Given the description of an element on the screen output the (x, y) to click on. 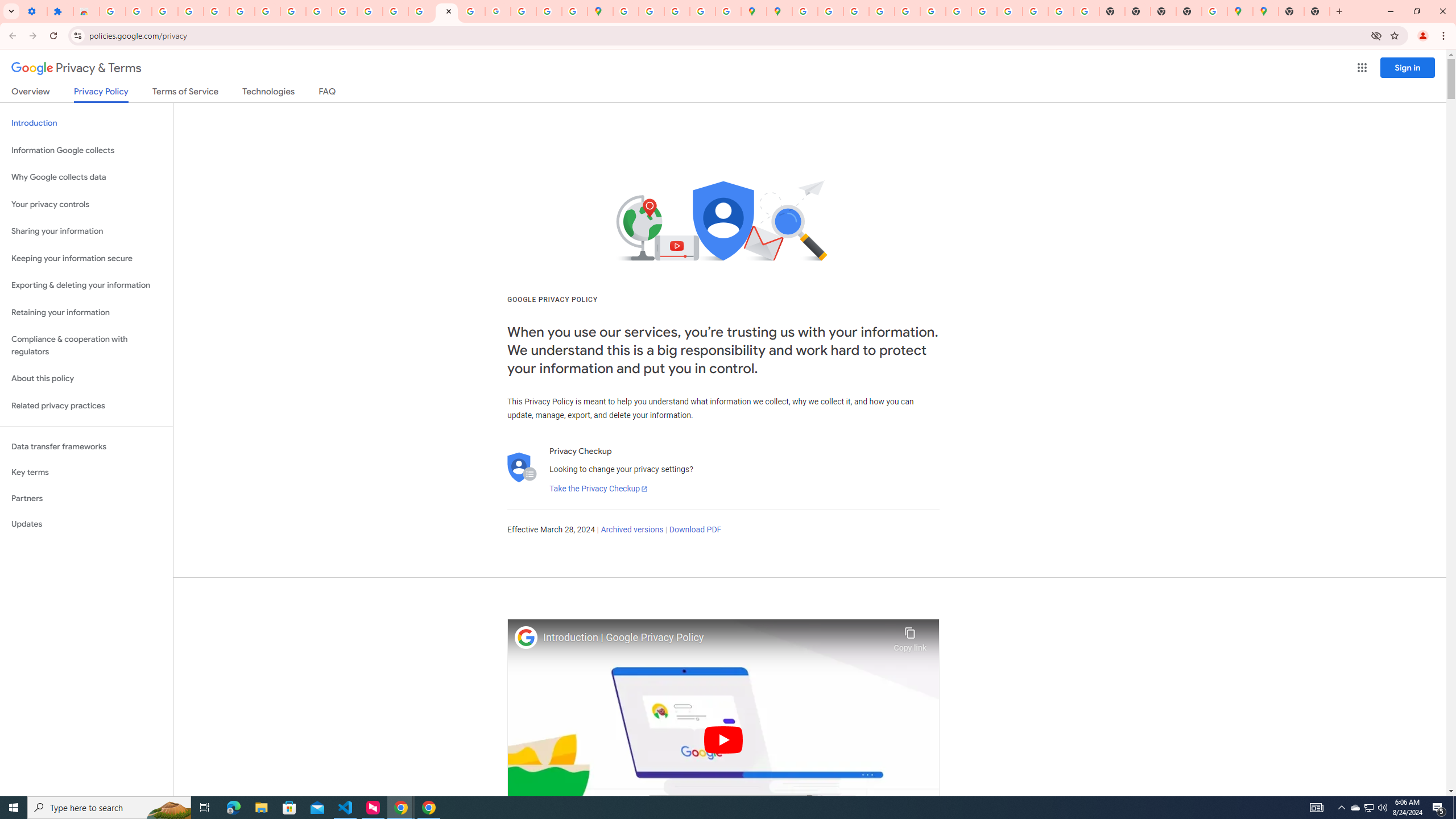
Keeping your information secure (86, 258)
Archived versions (631, 529)
Use Google Maps in Space - Google Maps Help (1213, 11)
Safety in Our Products - Google Safety Center (727, 11)
Exporting & deleting your information (86, 284)
